Given the description of an element on the screen output the (x, y) to click on. 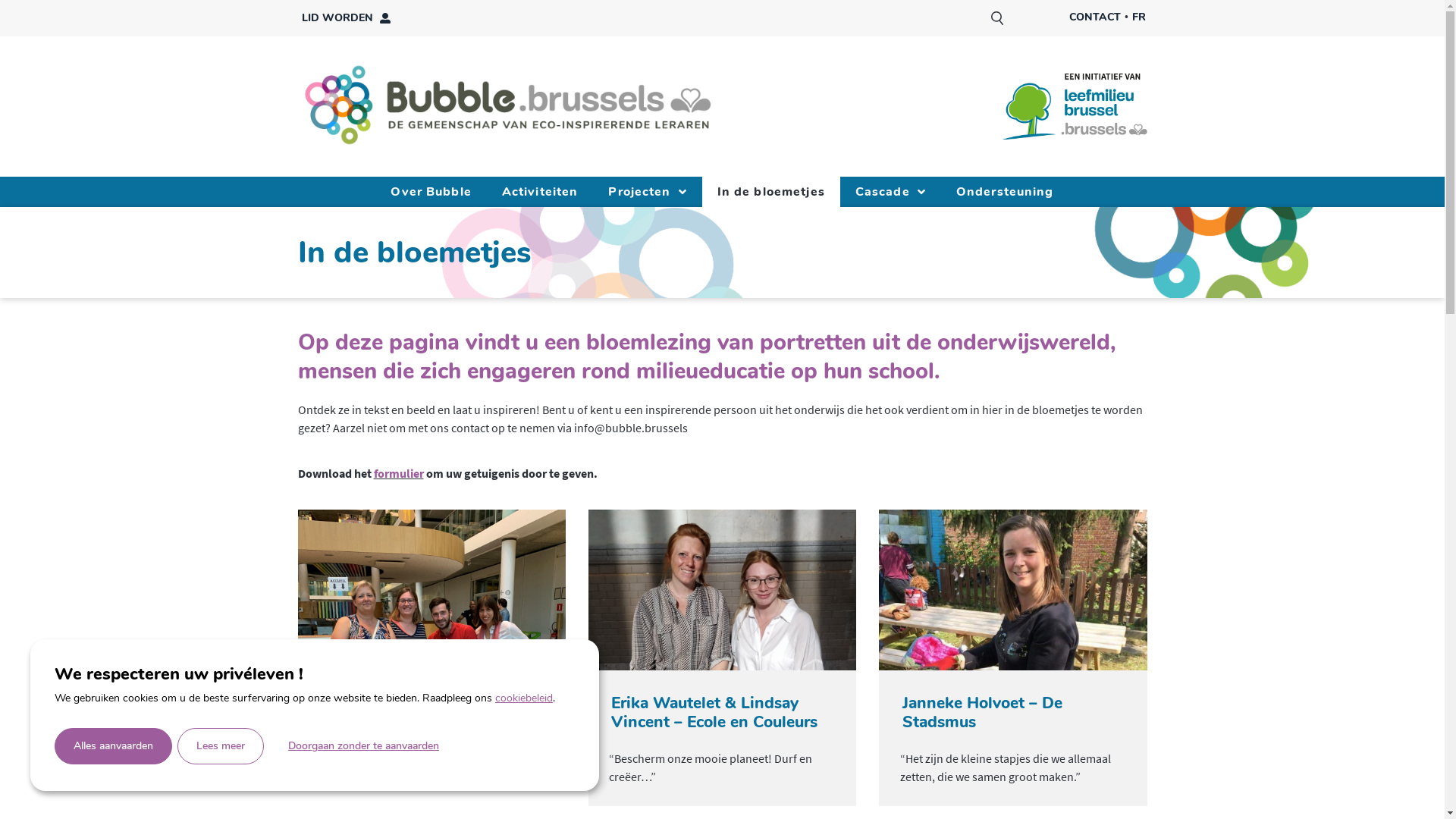
bulle ere killian 2 Element type: hover (430, 589)
Alles aanvaarden Element type: text (113, 746)
Lees meer Element type: text (220, 746)
Cascade Element type: text (890, 191)
formulier Element type: text (398, 472)
erika lindsay_landscape Element type: hover (722, 589)
Over Bubble Element type: text (430, 191)
In de bloemetjes Element type: text (771, 191)
FR Element type: text (1138, 17)
Ondersteuning Element type: text (1005, 191)
Projecten Element type: text (647, 191)
Search Element type: hover (997, 18)
LID WORDEN Element type: text (345, 17)
Activiteiten Element type: text (539, 191)
Stadsmus_landscape2 Element type: hover (1012, 589)
CONTACT Element type: text (1094, 17)
Doorgaan zonder te aanvaarden Element type: text (363, 746)
cookiebeleid Element type: text (523, 697)
